Given the description of an element on the screen output the (x, y) to click on. 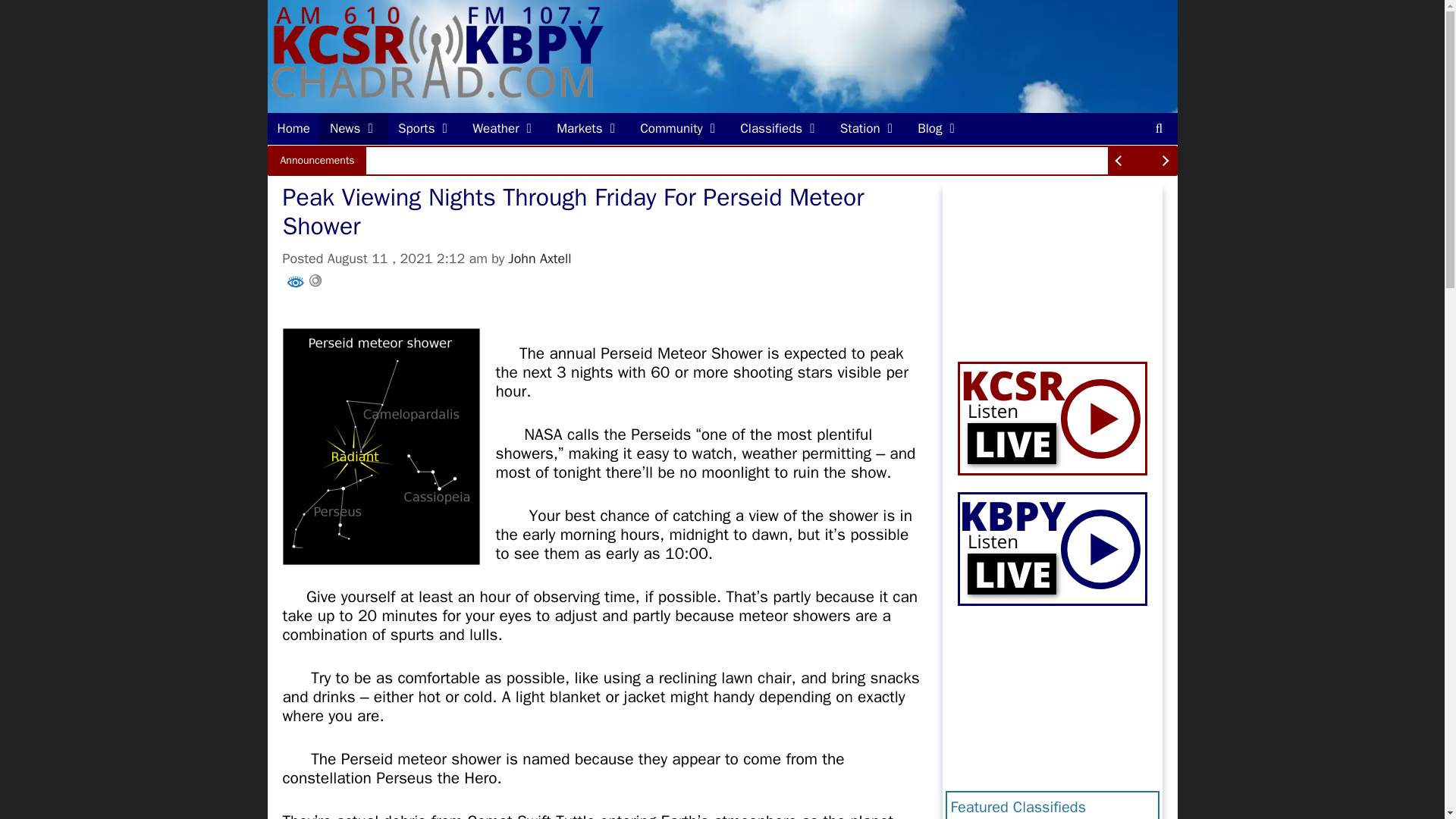
Sports (425, 128)
View all posts by John Axtell (540, 258)
Community (680, 128)
Classifieds (779, 128)
Weather (505, 128)
Markets (588, 128)
Home (292, 128)
News (354, 128)
